Given the description of an element on the screen output the (x, y) to click on. 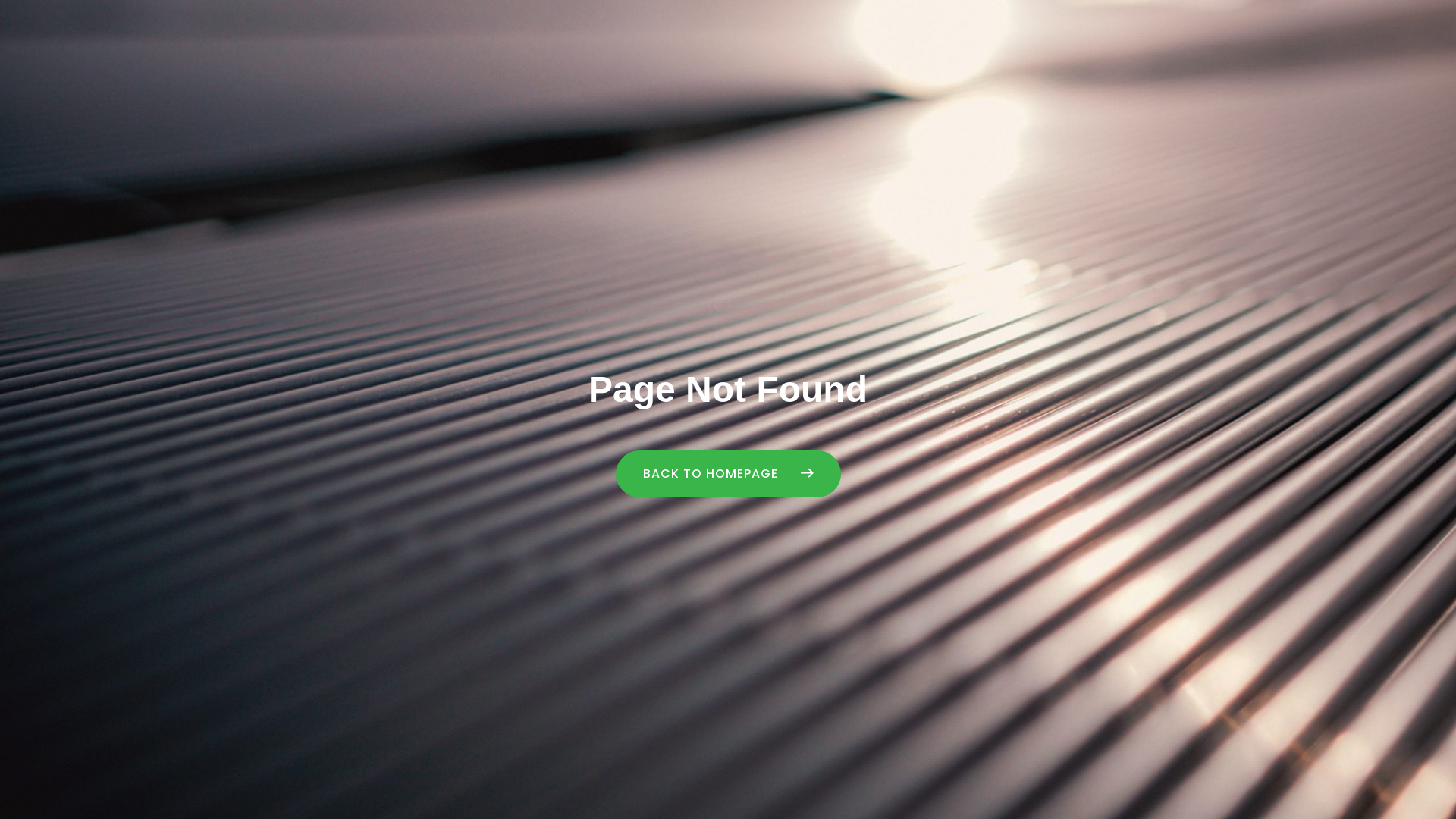
BACK TO HOMEPAGE Element type: text (727, 473)
